Given the description of an element on the screen output the (x, y) to click on. 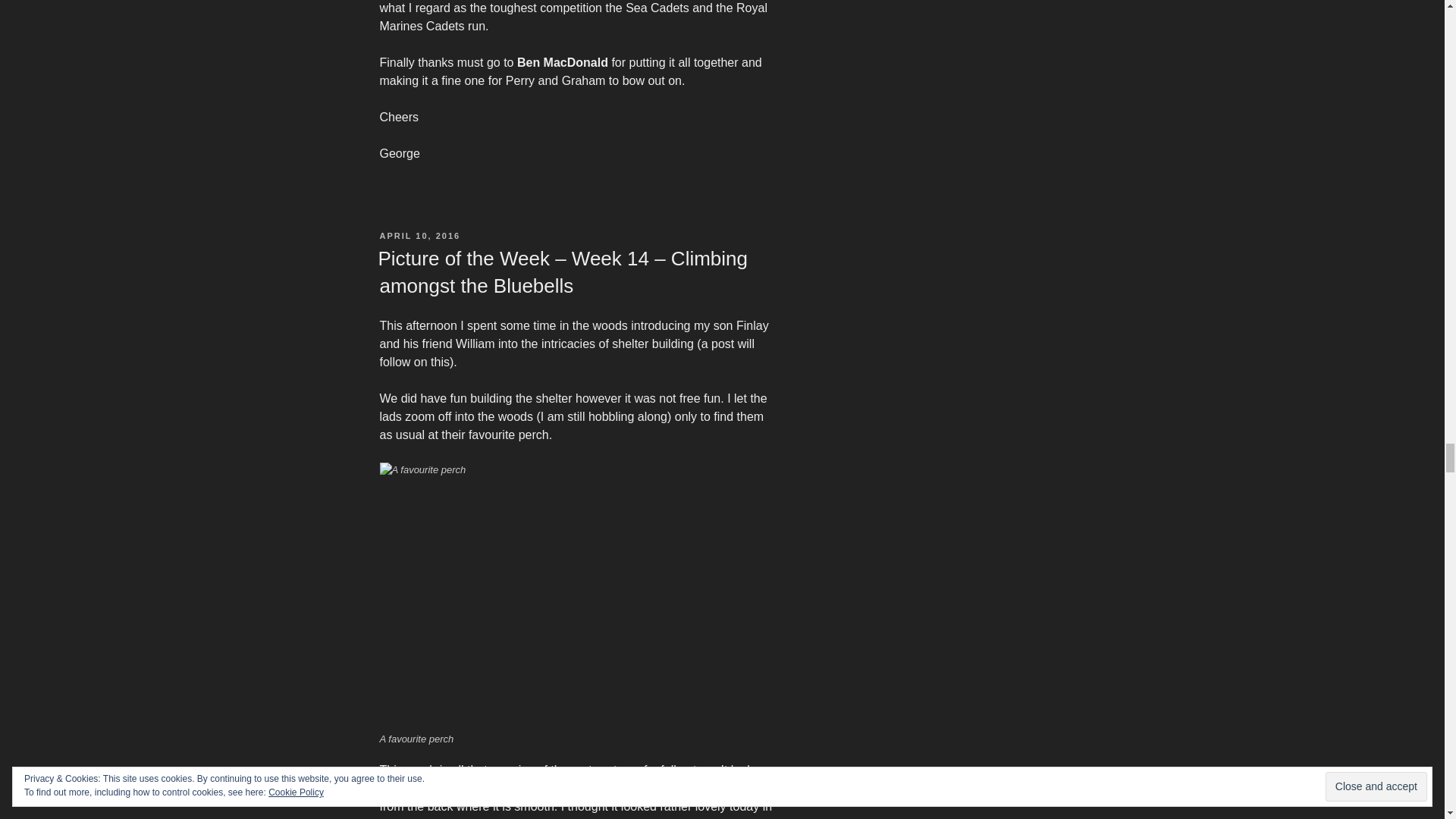
APRIL 10, 2016 (419, 235)
